Given the description of an element on the screen output the (x, y) to click on. 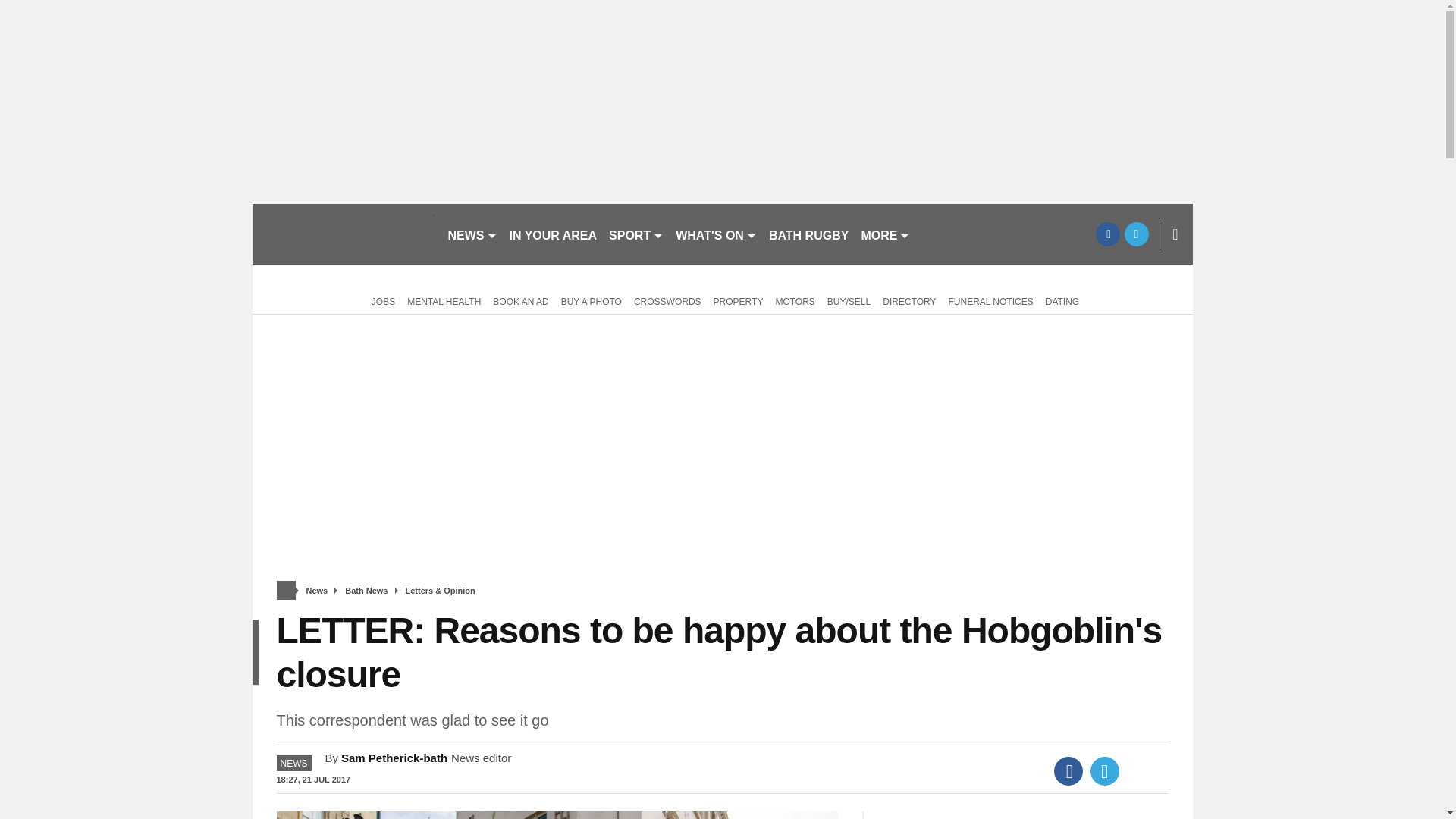
twitter (1136, 233)
CROSSWORDS (667, 300)
SPORT (635, 233)
NEWS (471, 233)
BOOK AN AD (520, 300)
Twitter (1104, 770)
facebook (1106, 233)
BUY A PHOTO (590, 300)
BATH RUGBY (808, 233)
Facebook (1068, 770)
